Given the description of an element on the screen output the (x, y) to click on. 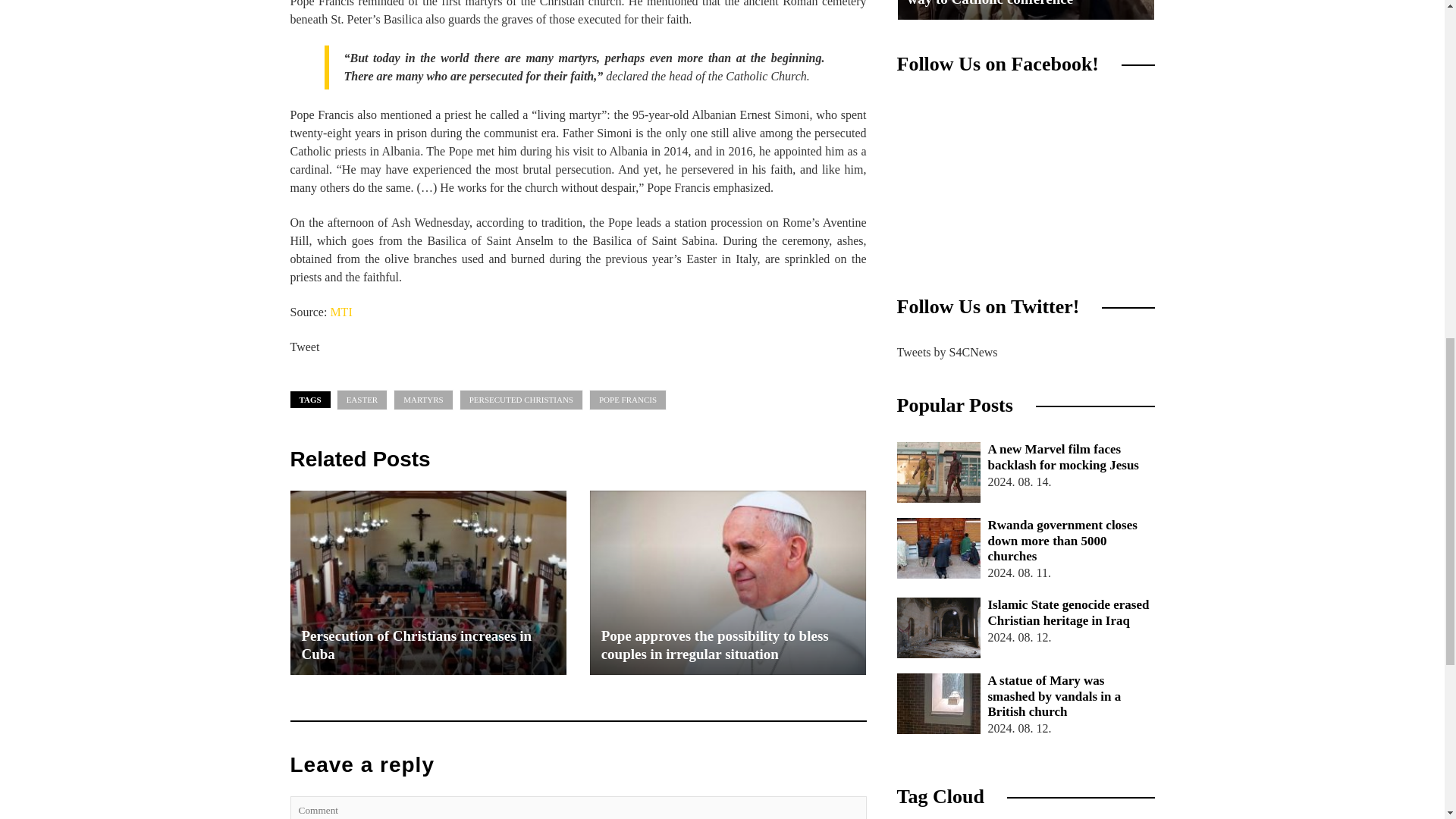
EASTER (362, 399)
View all posts tagged persecuted Christians (521, 399)
Islamic State genocide erased Christian heritage in Iraq (937, 627)
View all posts tagged Martyrs (422, 399)
Tweets by S4CNews (946, 351)
View all posts tagged Easter (362, 399)
Persecution of Christians increases in Cuba (427, 582)
A statue of Mary was smashed by vandals in a British church (937, 703)
A new Marvel film faces backlash for mocking Jesus (1025, 457)
